Given the description of an element on the screen output the (x, y) to click on. 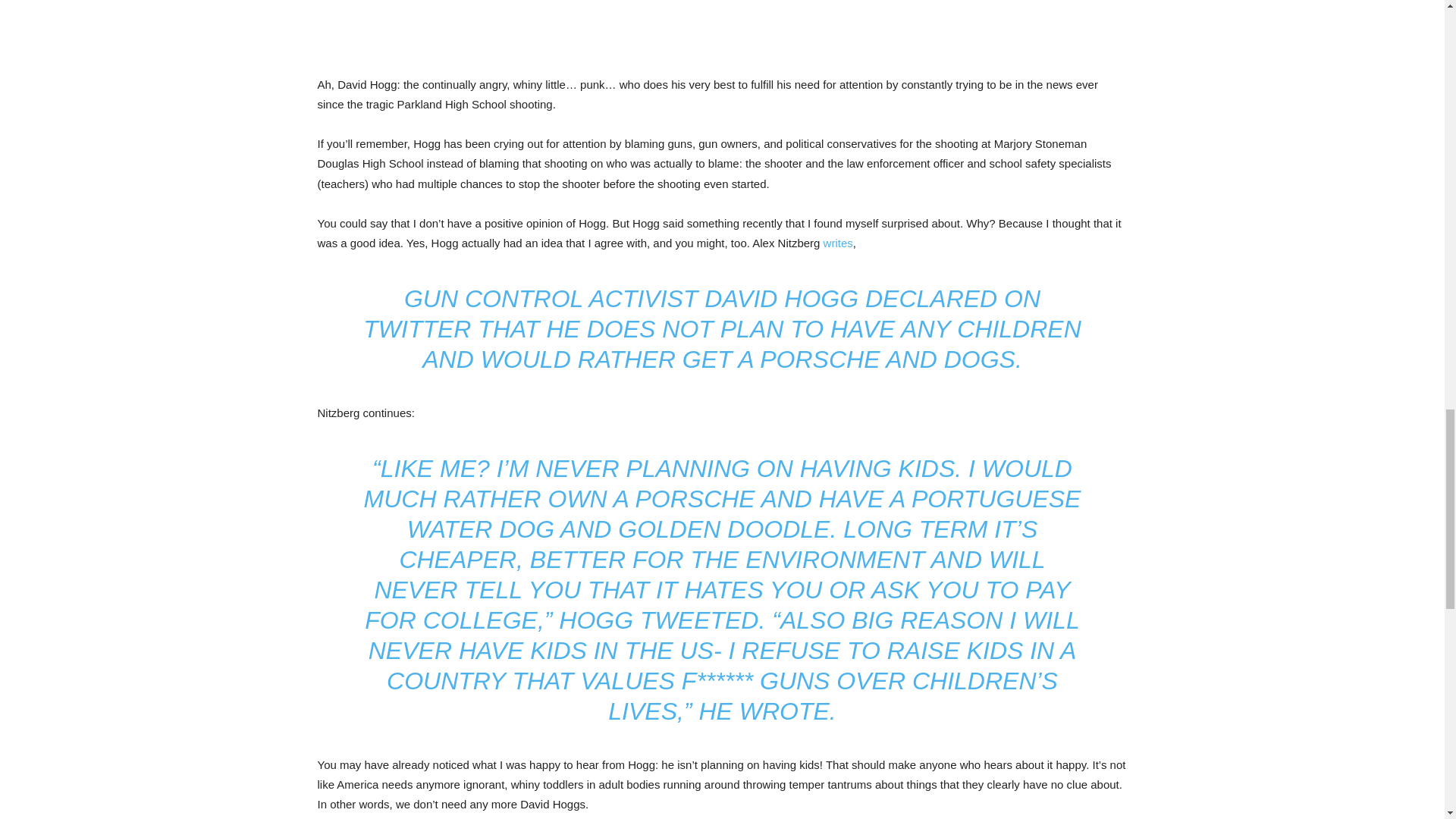
writes (838, 242)
